Given the description of an element on the screen output the (x, y) to click on. 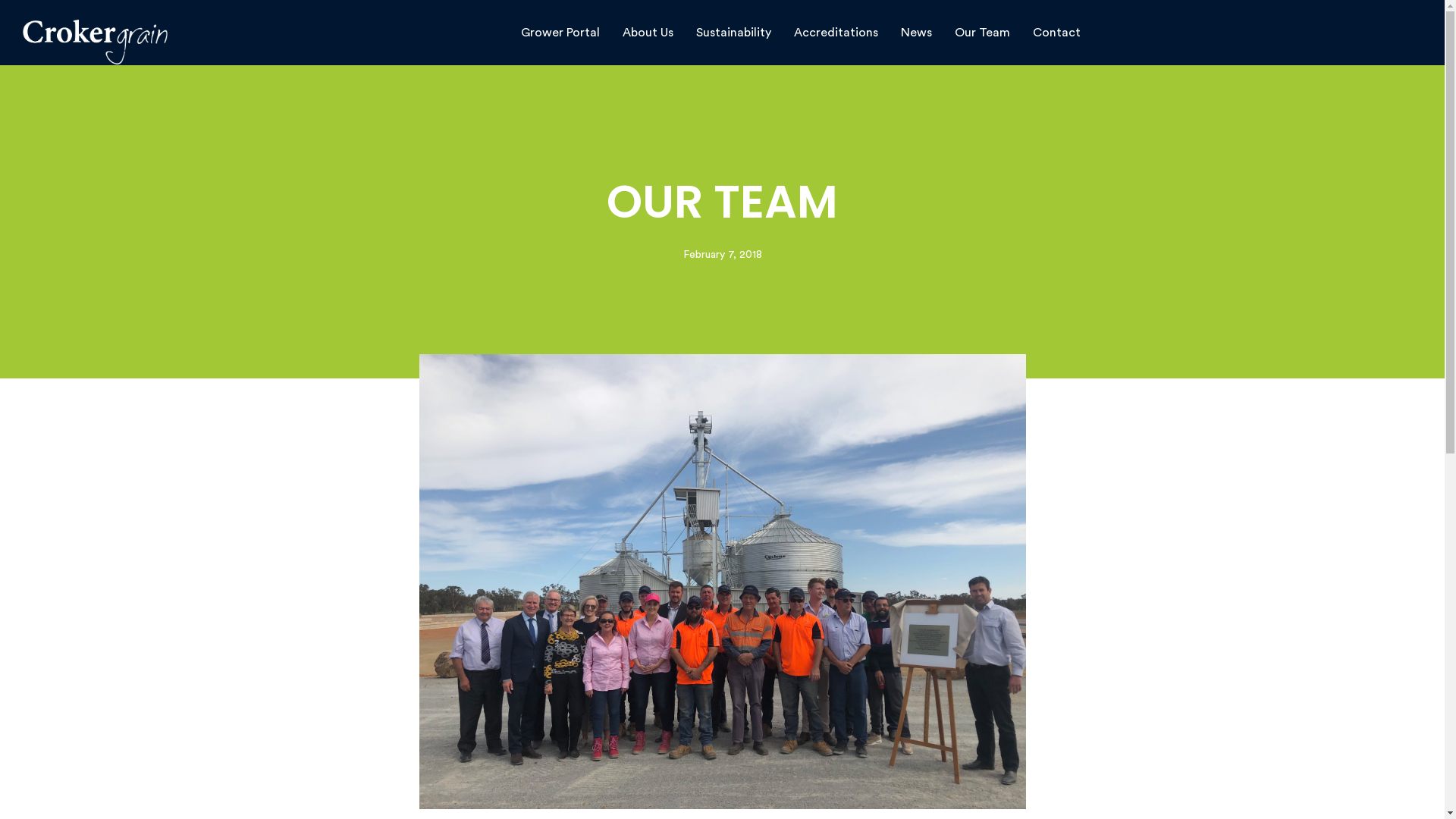
About Us Element type: text (647, 32)
Grower Portal Element type: text (559, 32)
Contact Element type: text (1056, 32)
Our Team Element type: text (982, 32)
Sustainability Element type: text (733, 32)
News Element type: text (915, 32)
Accreditations Element type: text (835, 32)
